Given the description of an element on the screen output the (x, y) to click on. 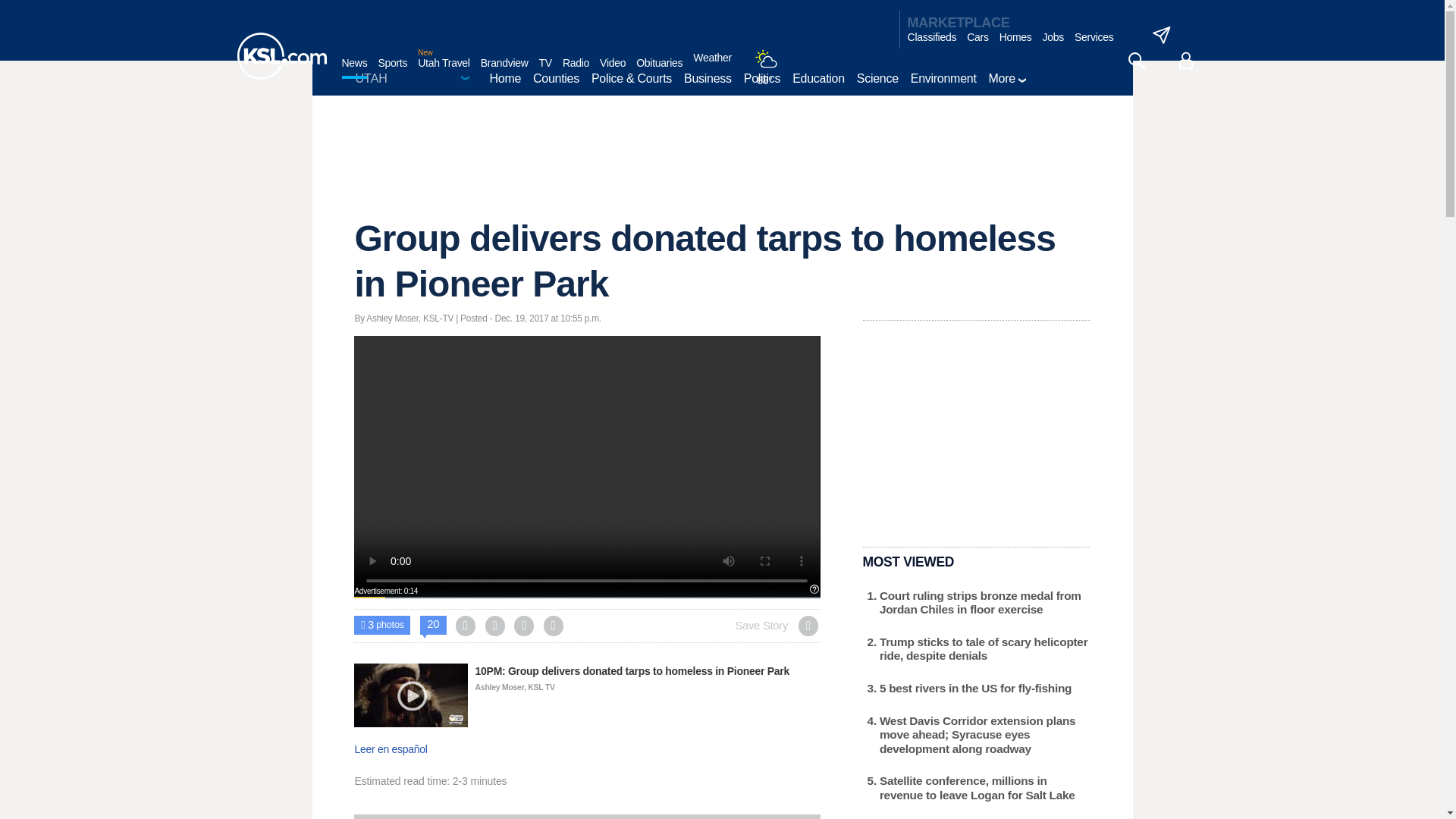
account - logged out (1185, 60)
Advertisement (586, 466)
KSL homepage (280, 55)
search (1135, 60)
